Given the description of an element on the screen output the (x, y) to click on. 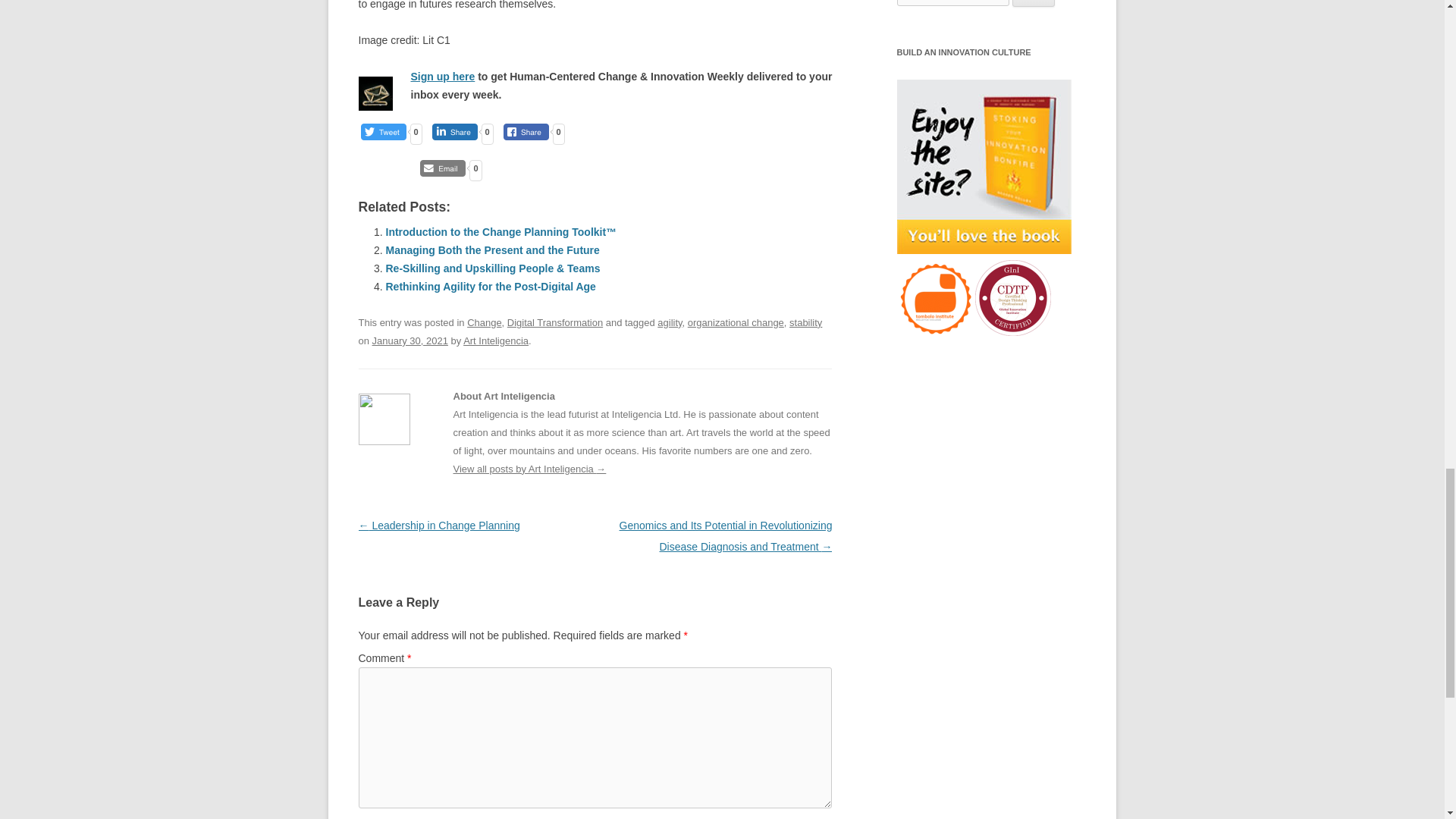
Rethinking Agility for the Post-Digital Age (490, 286)
1:10 am (410, 340)
Get your copy of 'Stoking Your Innovation Bonfire' (983, 166)
Managing Both the Present and the Future (491, 250)
Search (1033, 3)
View all posts by Art Inteligencia (495, 340)
